Given the description of an element on the screen output the (x, y) to click on. 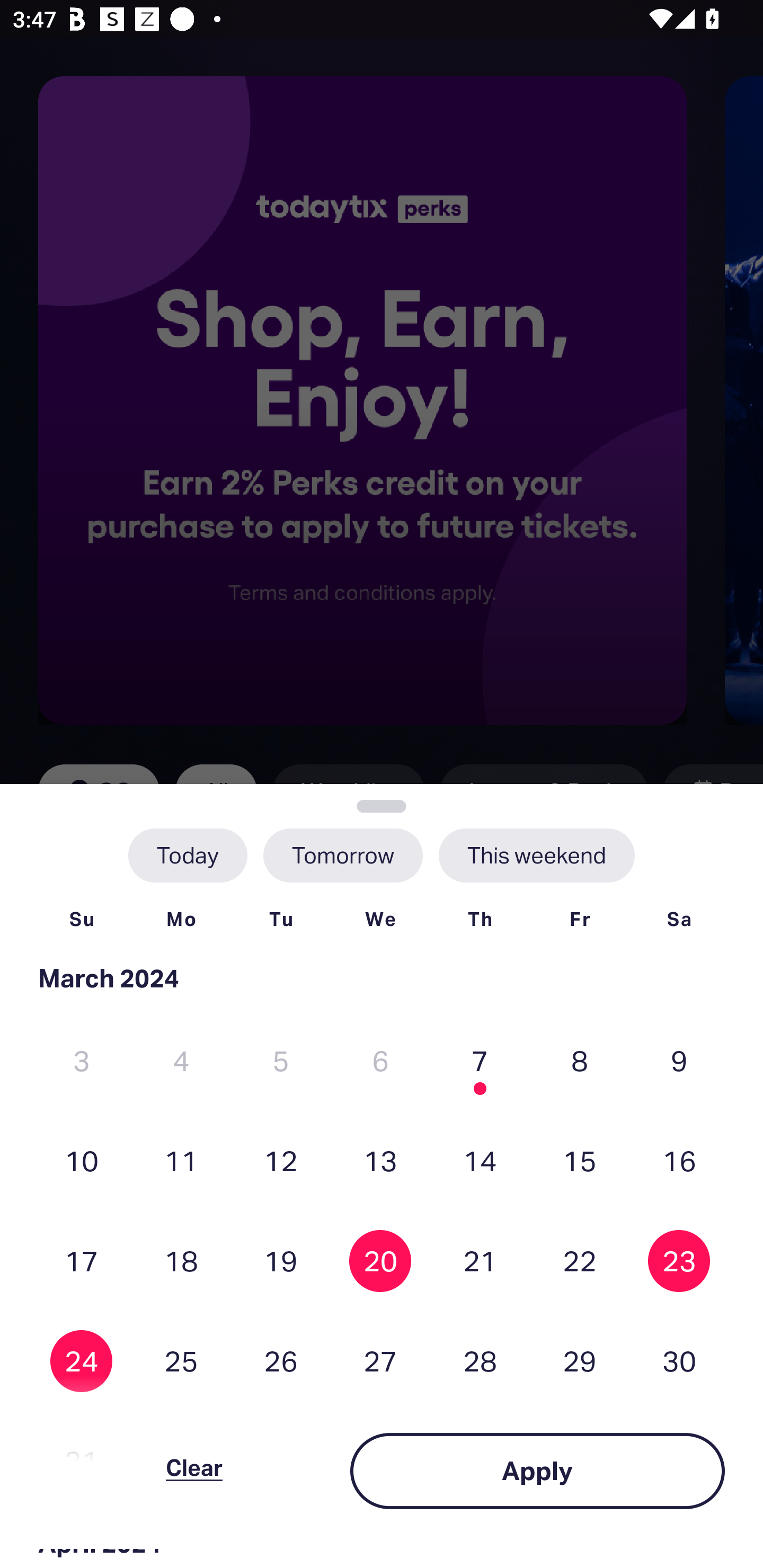
Today (187, 854)
Tomorrow (342, 854)
This weekend (536, 854)
3 (81, 1060)
4 (181, 1060)
5 (280, 1060)
6 (380, 1060)
7 (479, 1060)
8 (579, 1060)
9 (678, 1060)
10 (81, 1160)
11 (181, 1160)
12 (280, 1160)
13 (380, 1160)
14 (479, 1160)
15 (579, 1160)
16 (678, 1160)
17 (81, 1260)
18 (181, 1260)
19 (280, 1260)
20 (380, 1260)
21 (479, 1260)
22 (579, 1260)
23 (678, 1260)
24 (81, 1360)
25 (181, 1360)
26 (280, 1360)
27 (380, 1360)
28 (479, 1360)
29 (579, 1360)
30 (678, 1360)
Clear (194, 1470)
Apply (537, 1470)
